Given the description of an element on the screen output the (x, y) to click on. 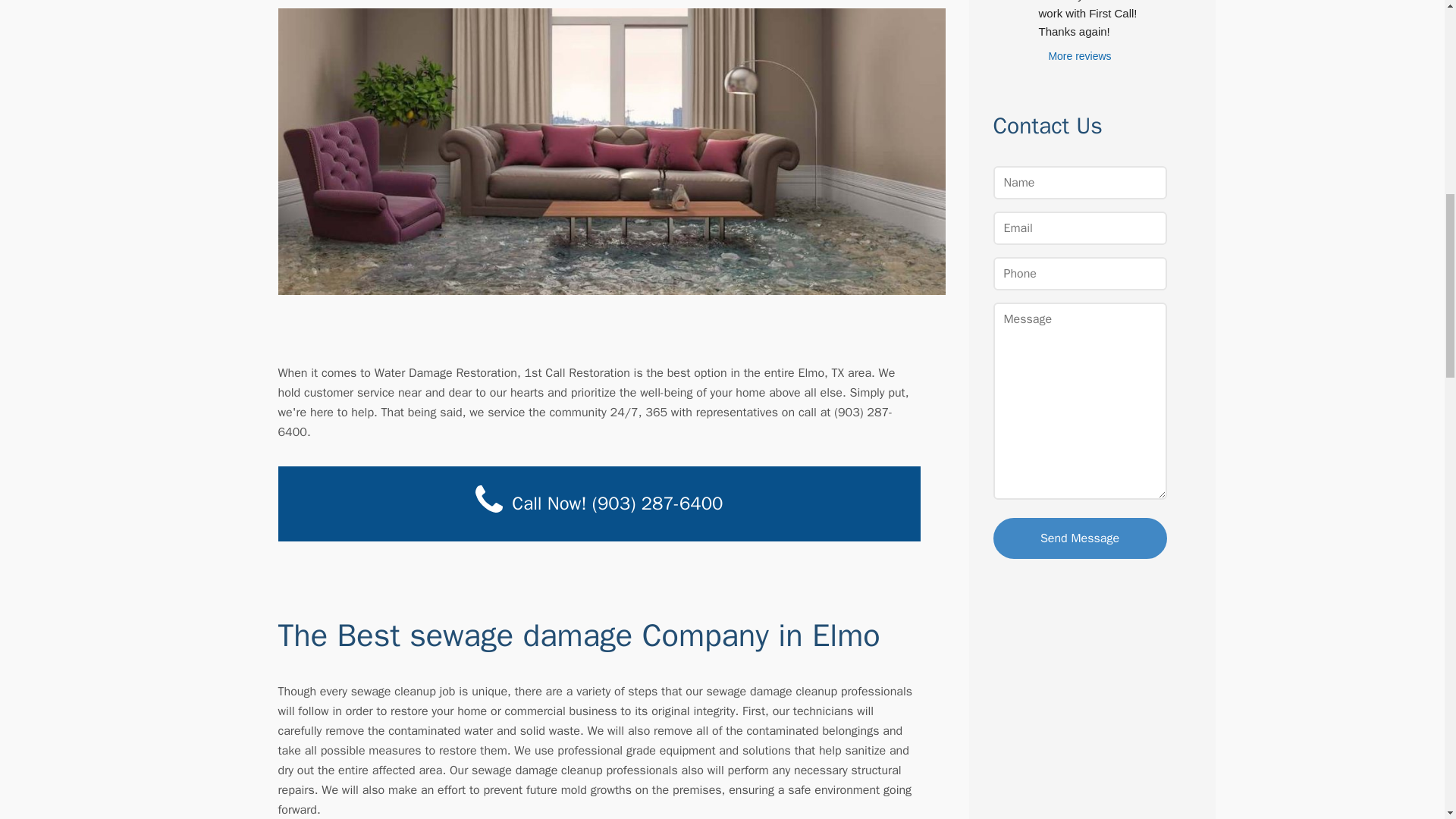
Send Message (1079, 537)
